Given the description of an element on the screen output the (x, y) to click on. 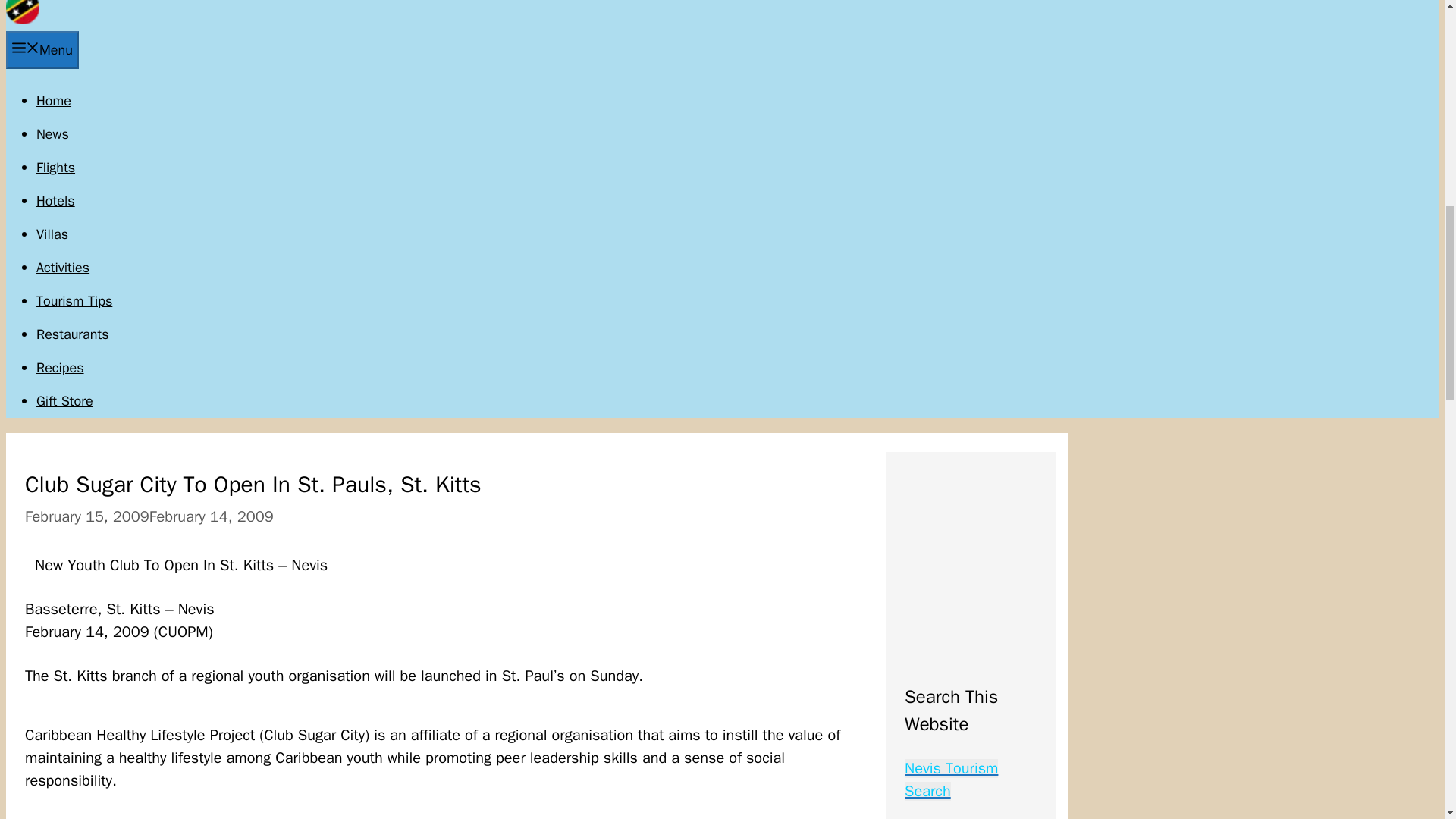
Activities (62, 267)
Gift Store (64, 401)
Hotels (55, 200)
News (52, 134)
Villas (52, 234)
Nevis Tourism Search (950, 779)
Menu (41, 49)
Restaurants (72, 334)
Luxury Nevis Hotels (55, 200)
Nevis Flight Information (55, 167)
Nevis Villa Rentals (52, 234)
Flights (55, 167)
Recipes (60, 367)
Home (53, 100)
Nevis News (52, 134)
